Given the description of an element on the screen output the (x, y) to click on. 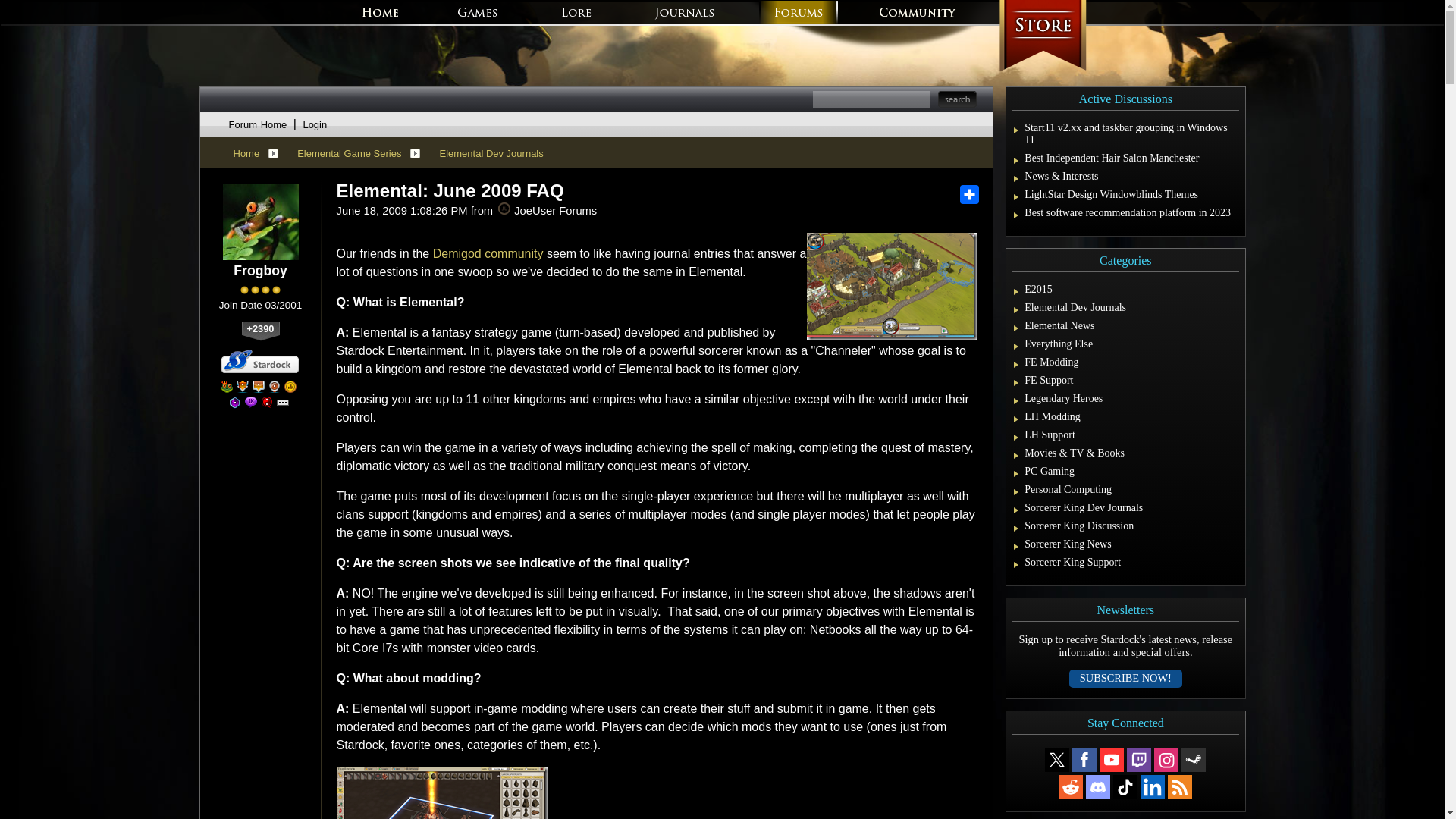
Precious - Received 1,000 Total Karma (290, 386)
View all awards (282, 401)
JoeUser Forums (504, 208)
Elemental: June 2009 FAQ (450, 190)
Super Active Commenter - Replied over 1,000 times (250, 402)
CEO - The Chief Executive Officer of Stardock (226, 386)
Mentor - Gave 100 Karma (266, 402)
View Frogboy's Karma (260, 331)
Click user name to view more options. (259, 270)
Rank: 9 (260, 289)
Experienced Poster - Created 500 Posts (234, 402)
